Given the description of an element on the screen output the (x, y) to click on. 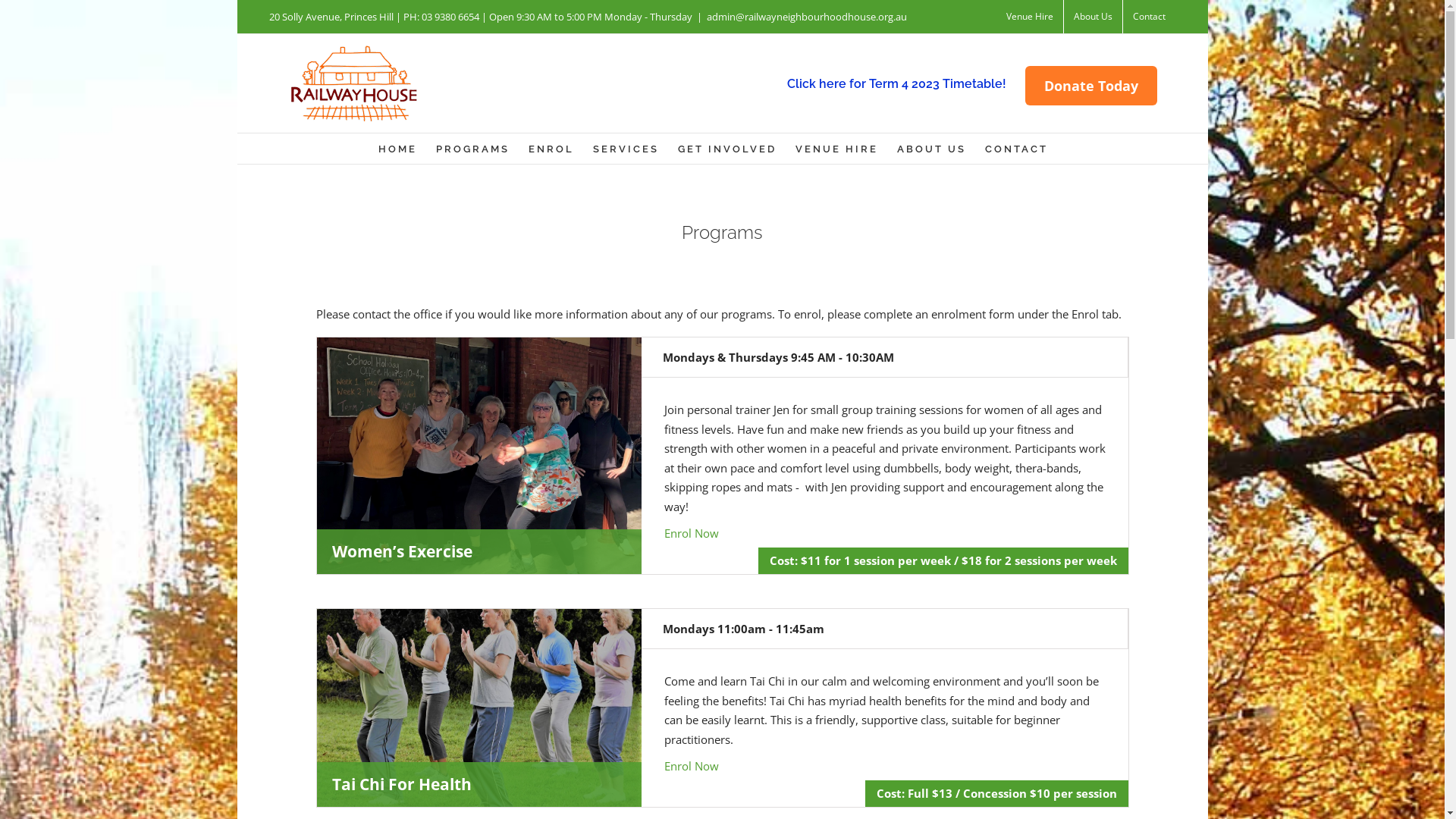
Click here for Term 4 2023 Timetable! Element type: text (896, 83)
Donate Today Element type: text (1091, 84)
ABOUT US Element type: text (930, 148)
admin@railwayneighbourhoodhouse.org.au Element type: text (806, 16)
About Us Element type: text (1092, 16)
Enrol Now Element type: text (691, 765)
Contact Element type: text (1149, 16)
HOME Element type: text (396, 148)
SERVICES Element type: text (625, 148)
CONTACT Element type: text (1015, 148)
Enrol Now Element type: text (691, 532)
PROGRAMS Element type: text (471, 148)
GET INVOLVED Element type: text (726, 148)
ENROL Element type: text (550, 148)
Venue Hire Element type: text (1029, 16)
VENUE HIRE Element type: text (835, 148)
